Given the description of an element on the screen output the (x, y) to click on. 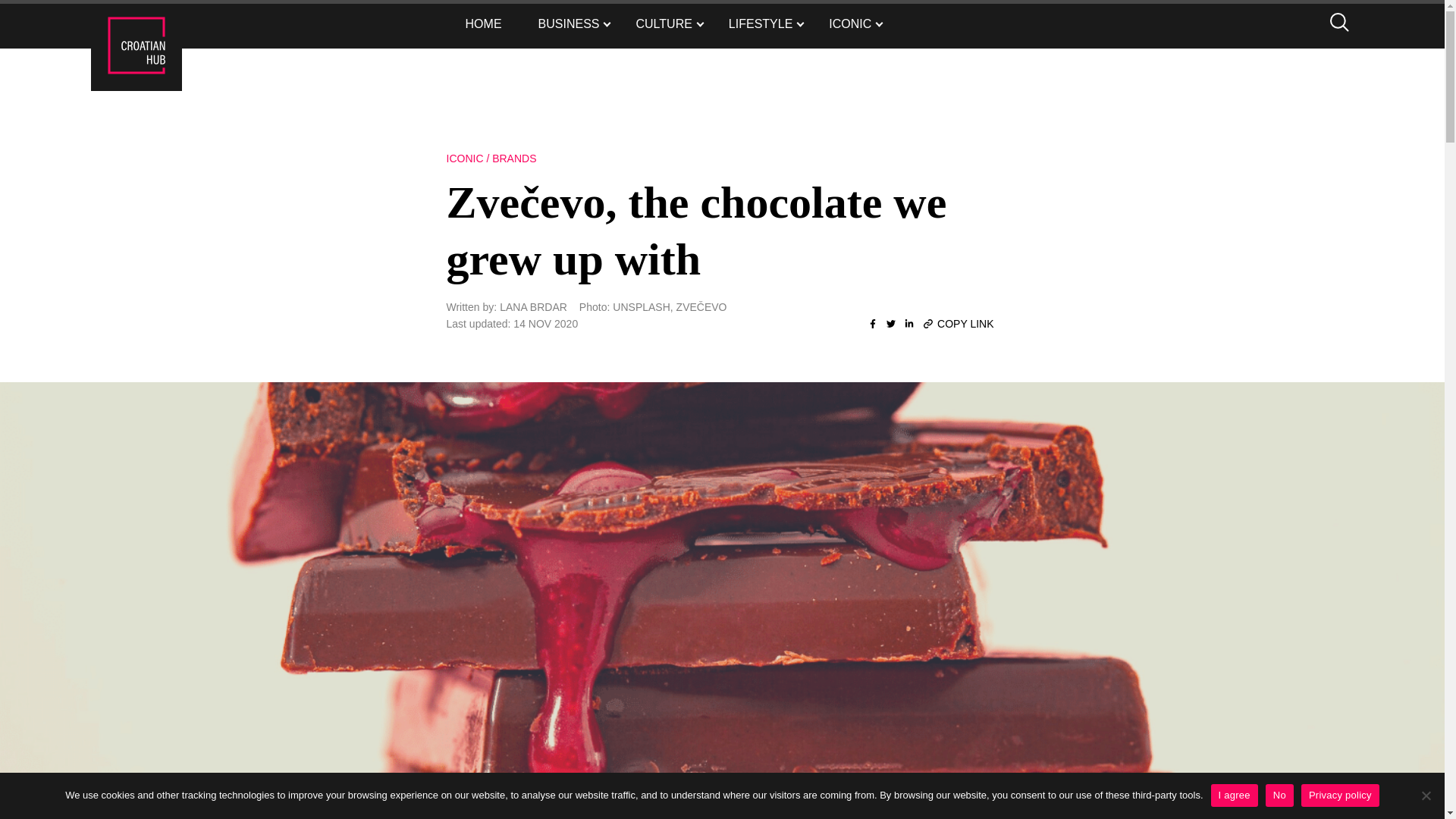
LANA BRDAR (533, 306)
ICONIC (849, 24)
No (1425, 795)
LIFESTYLE (760, 24)
CULTURE (663, 24)
HOME (482, 24)
BUSINESS (568, 24)
